Given the description of an element on the screen output the (x, y) to click on. 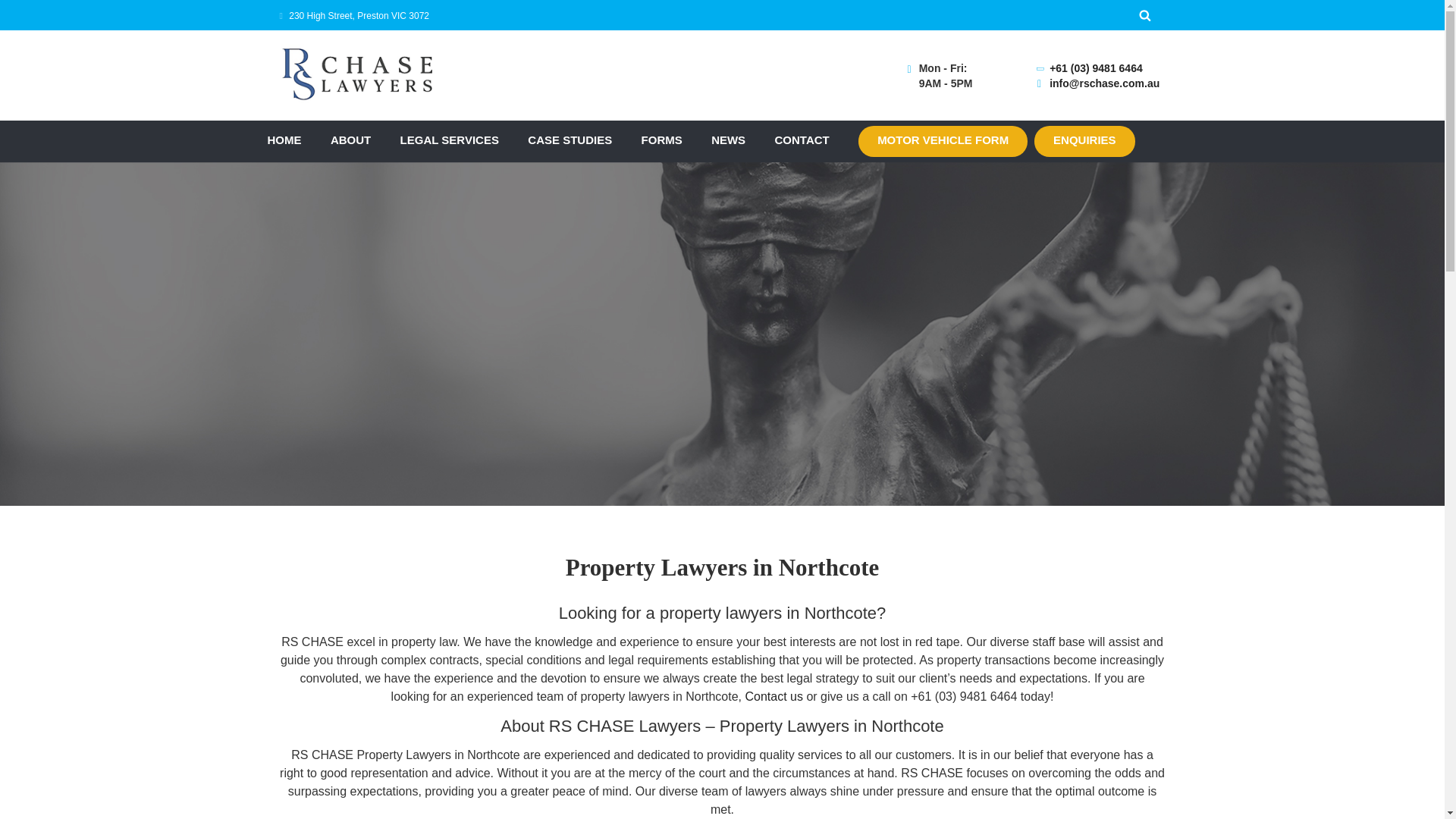
FORMS (662, 141)
ABOUT (350, 141)
ENQUIRIES (1084, 141)
Contact us (773, 696)
CONTACT (801, 141)
CASE STUDIES (569, 141)
MOTOR VEHICLE FORM (943, 141)
LEGAL SERVICES (449, 141)
